Given the description of an element on the screen output the (x, y) to click on. 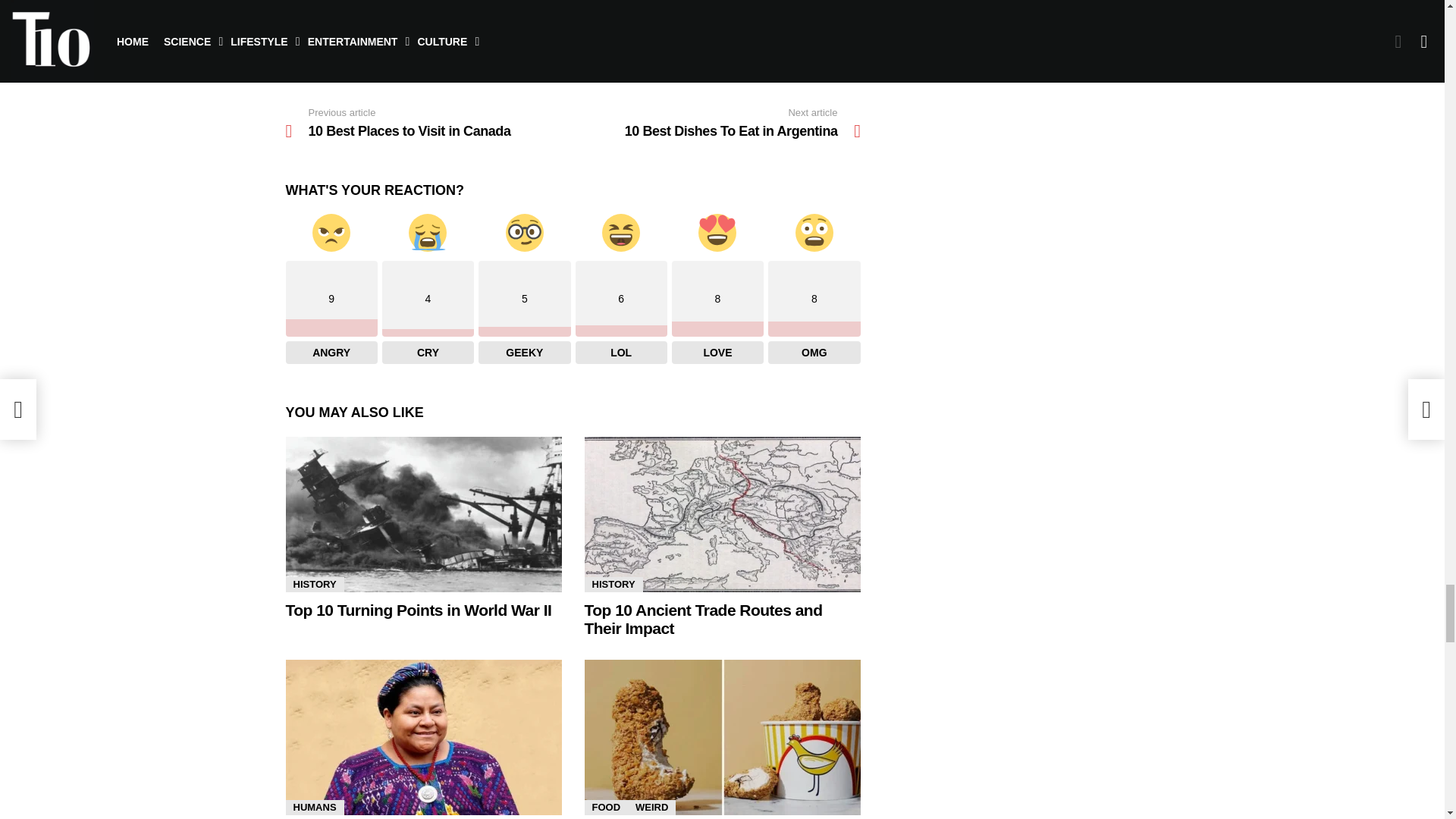
10 Activists Who Have Championed Human Rights Causes (422, 737)
Share on Tweet (555, 15)
Share on Telegram (761, 15)
Share on WhatsApp (658, 15)
Top 10 Ancient Trade Routes and Their Impact (721, 514)
Share on Pinterest (606, 51)
Share on Share (452, 15)
Top 10 Turning Points in World War II (422, 514)
Top 10 Weirdest Ice Cream Flavours Around the World (721, 737)
